Given the description of an element on the screen output the (x, y) to click on. 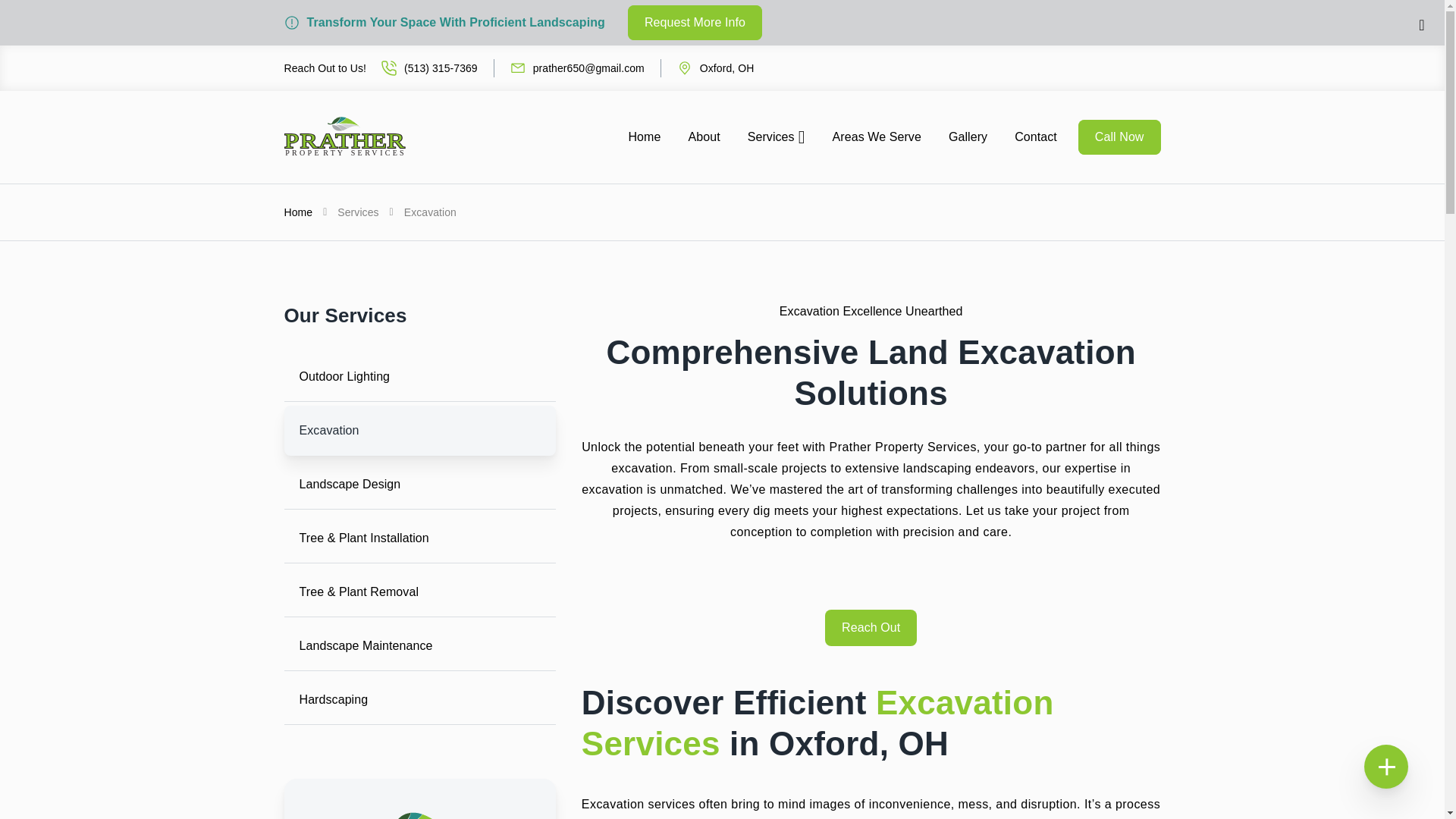
Services (357, 212)
Oxford, OH (707, 67)
Landscape Design (418, 484)
Landscape Maintenance (418, 645)
Services (775, 137)
Outdoor Lighting (418, 377)
Areas We Serve (876, 137)
Home (298, 212)
Request More Info (694, 22)
Excavation (418, 430)
Hardscaping (418, 699)
About (703, 137)
Gallery (967, 137)
Contact (1035, 137)
Home (644, 137)
